Given the description of an element on the screen output the (x, y) to click on. 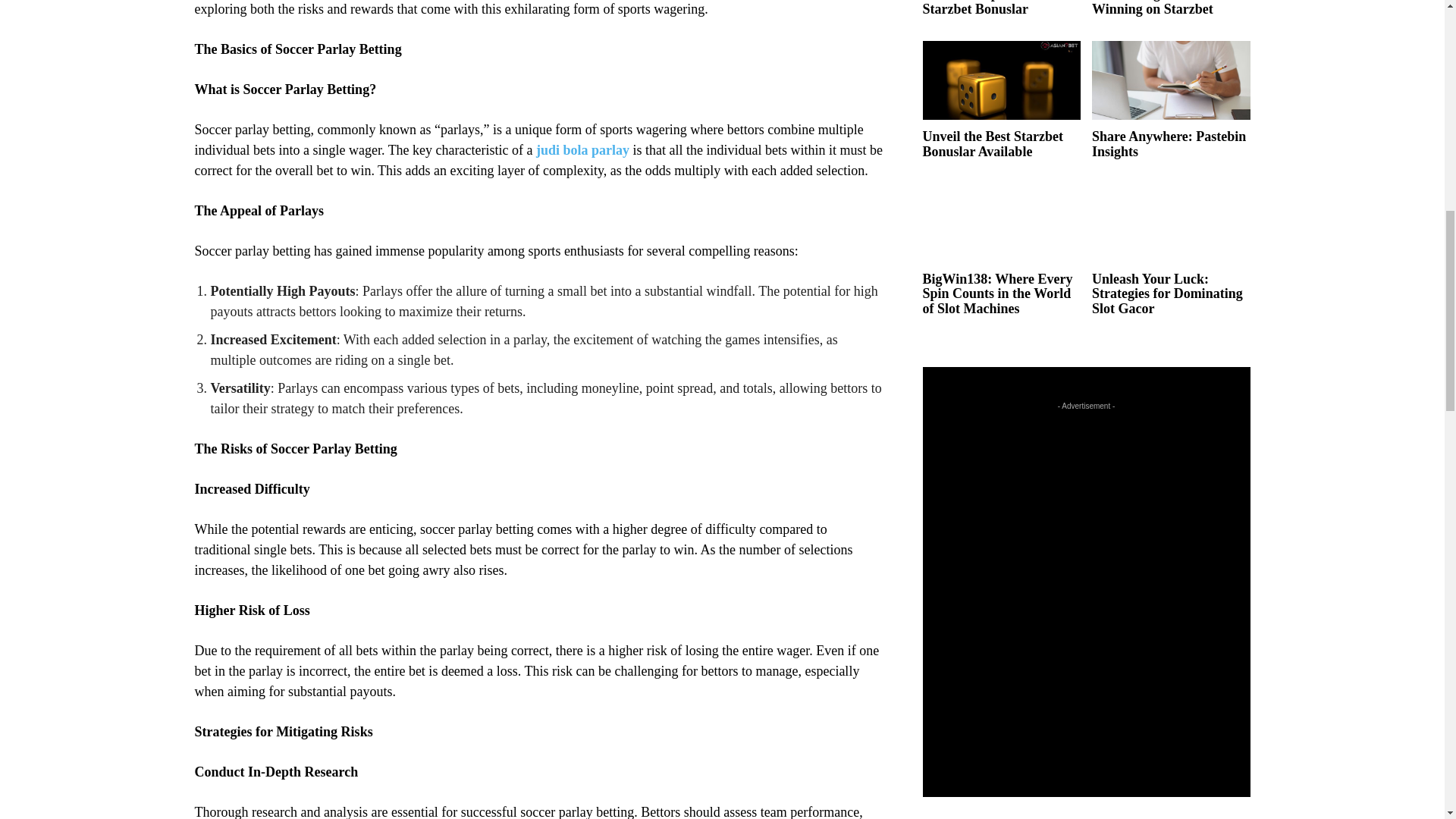
Discover Top Bonuses with Starzbet Bonuslar (999, 8)
Unveil the Best Starzbet Bonuslar Available (1000, 79)
How to Register and Start Winning on Starzbet (1168, 8)
